Given the description of an element on the screen output the (x, y) to click on. 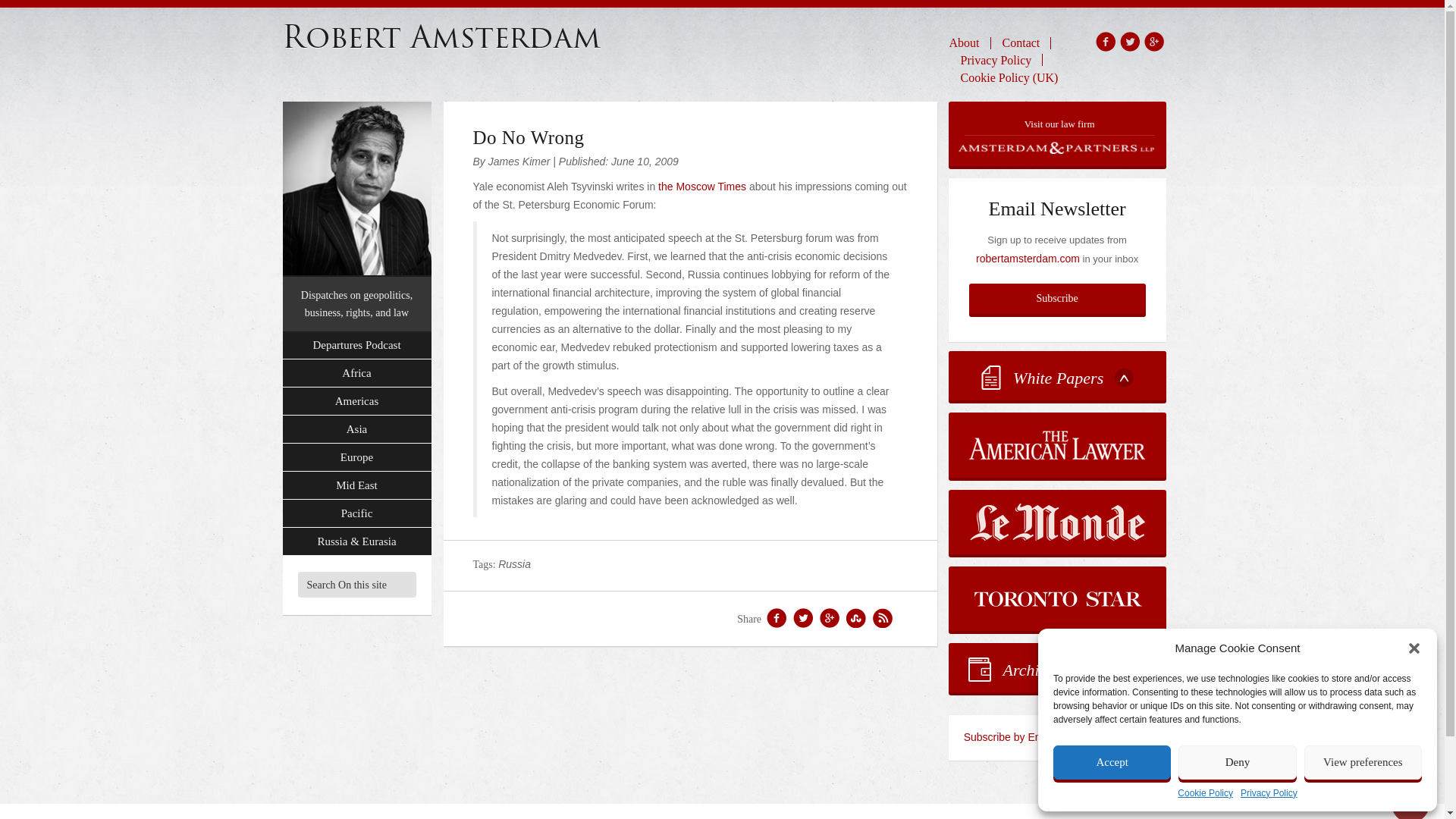
Americas (356, 401)
About (970, 42)
View preferences (1363, 762)
Departures Podcast (356, 345)
Accept (1111, 762)
Contact (1021, 42)
Subscribe to the Robert Amsterdam feed by email (1057, 737)
Asia (356, 429)
Do No Wrong (529, 137)
Privacy Policy (996, 59)
